Given the description of an element on the screen output the (x, y) to click on. 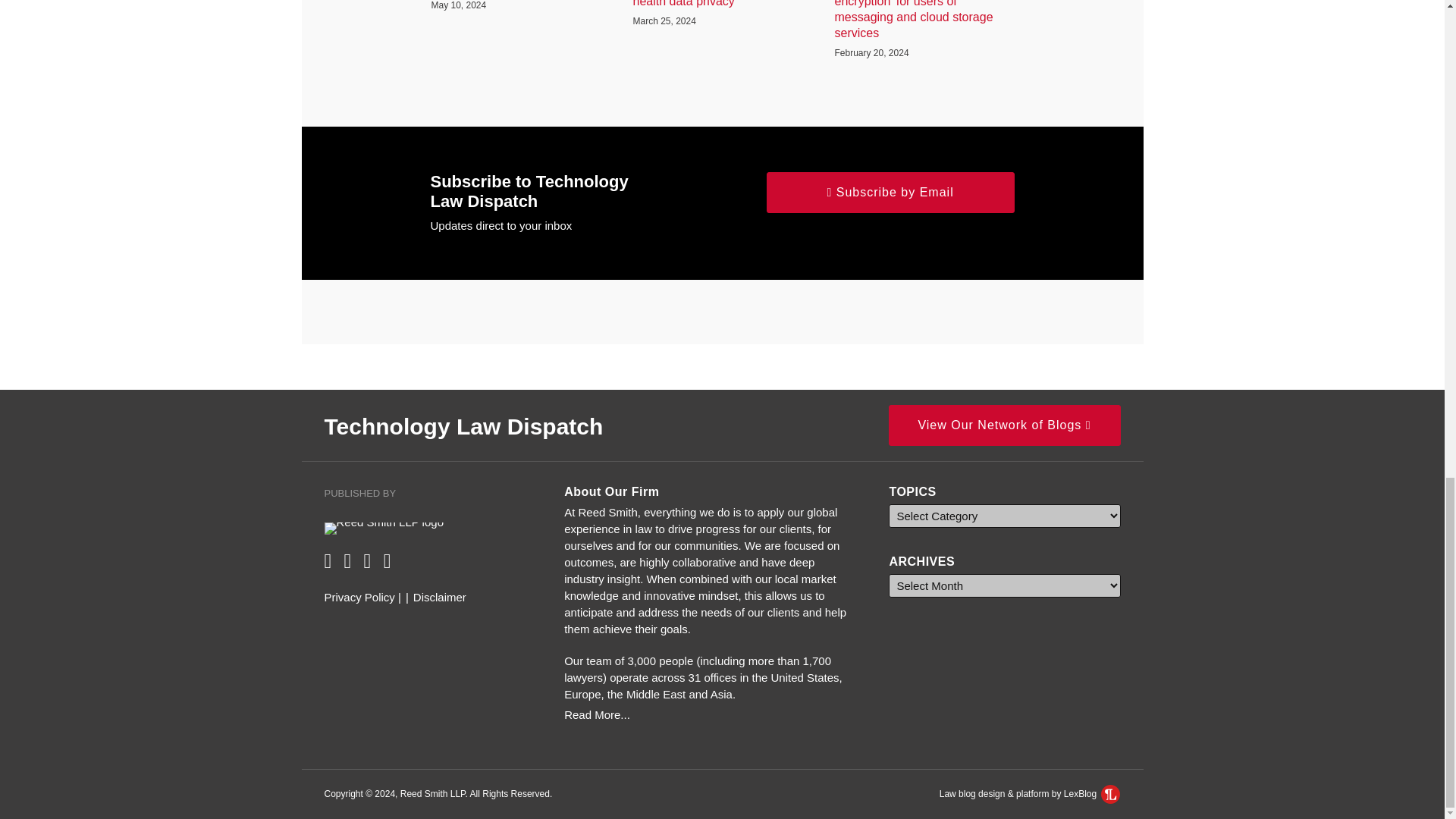
Disclaimer (439, 597)
Subscribe by Email (890, 191)
LexBlog Logo (1109, 793)
View Our Network of Blogs (1004, 424)
Technology Law Dispatch (464, 426)
